Given the description of an element on the screen output the (x, y) to click on. 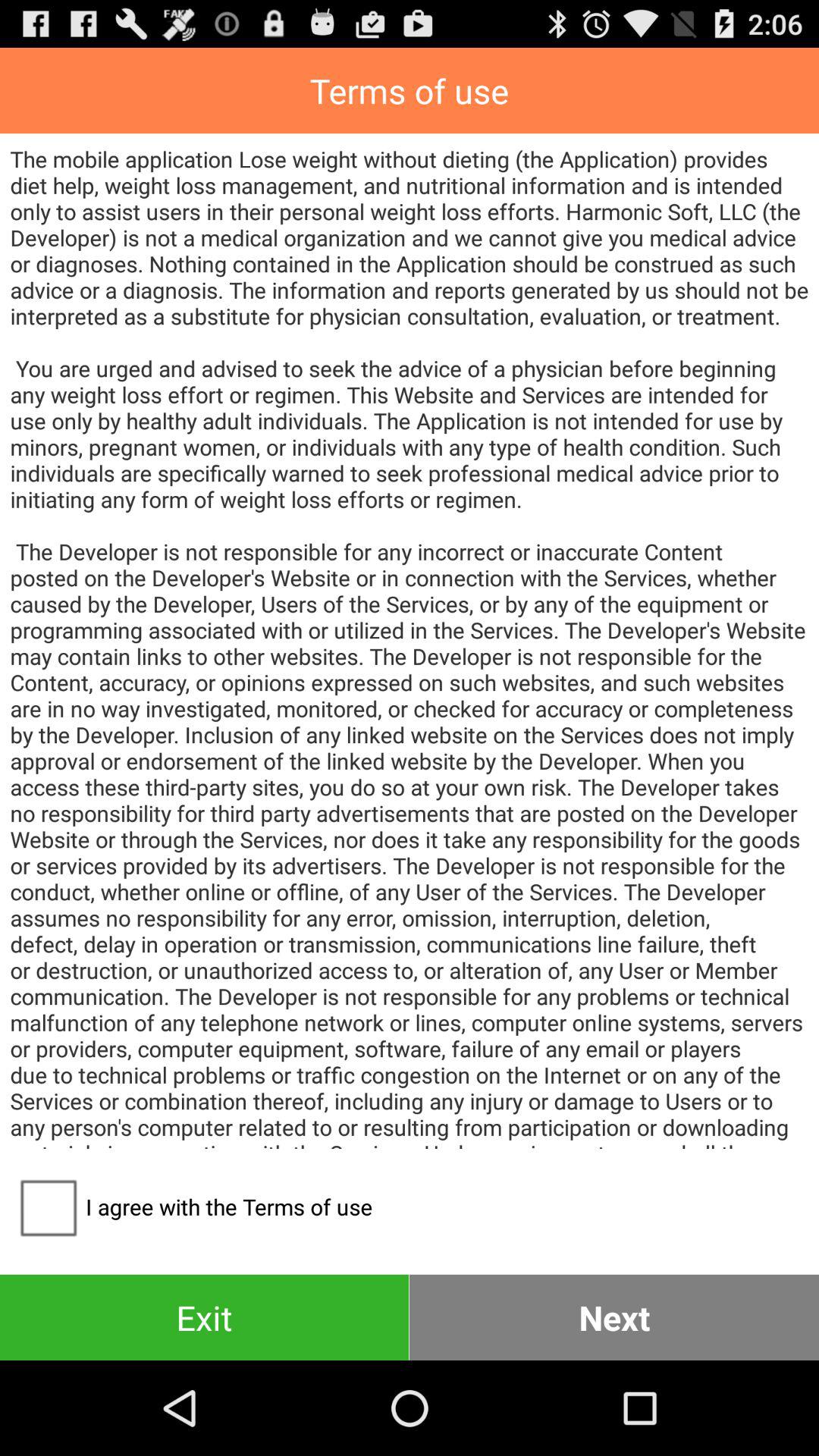
open the icon below the the mobile application (191, 1206)
